Given the description of an element on the screen output the (x, y) to click on. 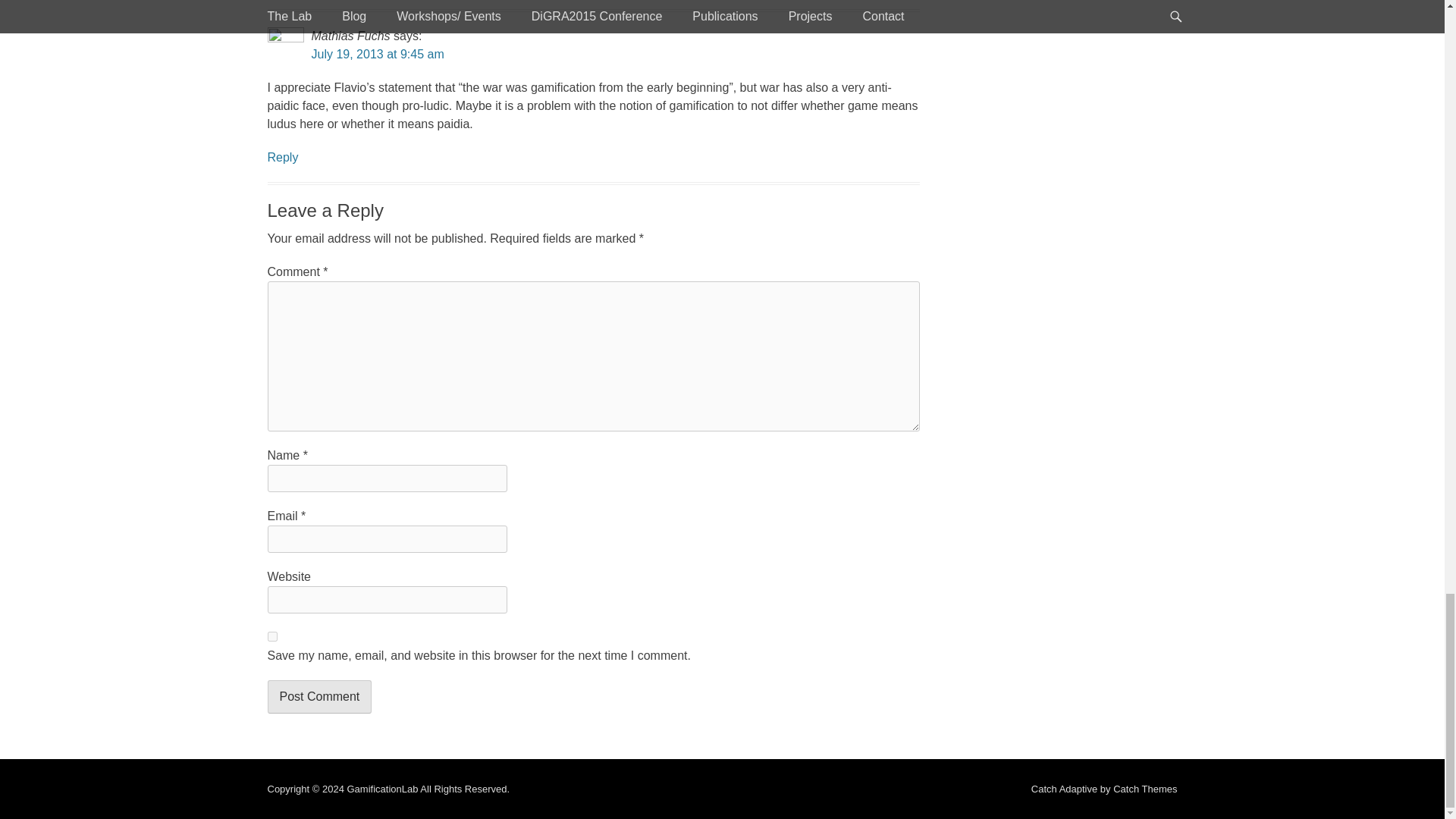
Post Comment (318, 696)
yes (271, 636)
